Given the description of an element on the screen output the (x, y) to click on. 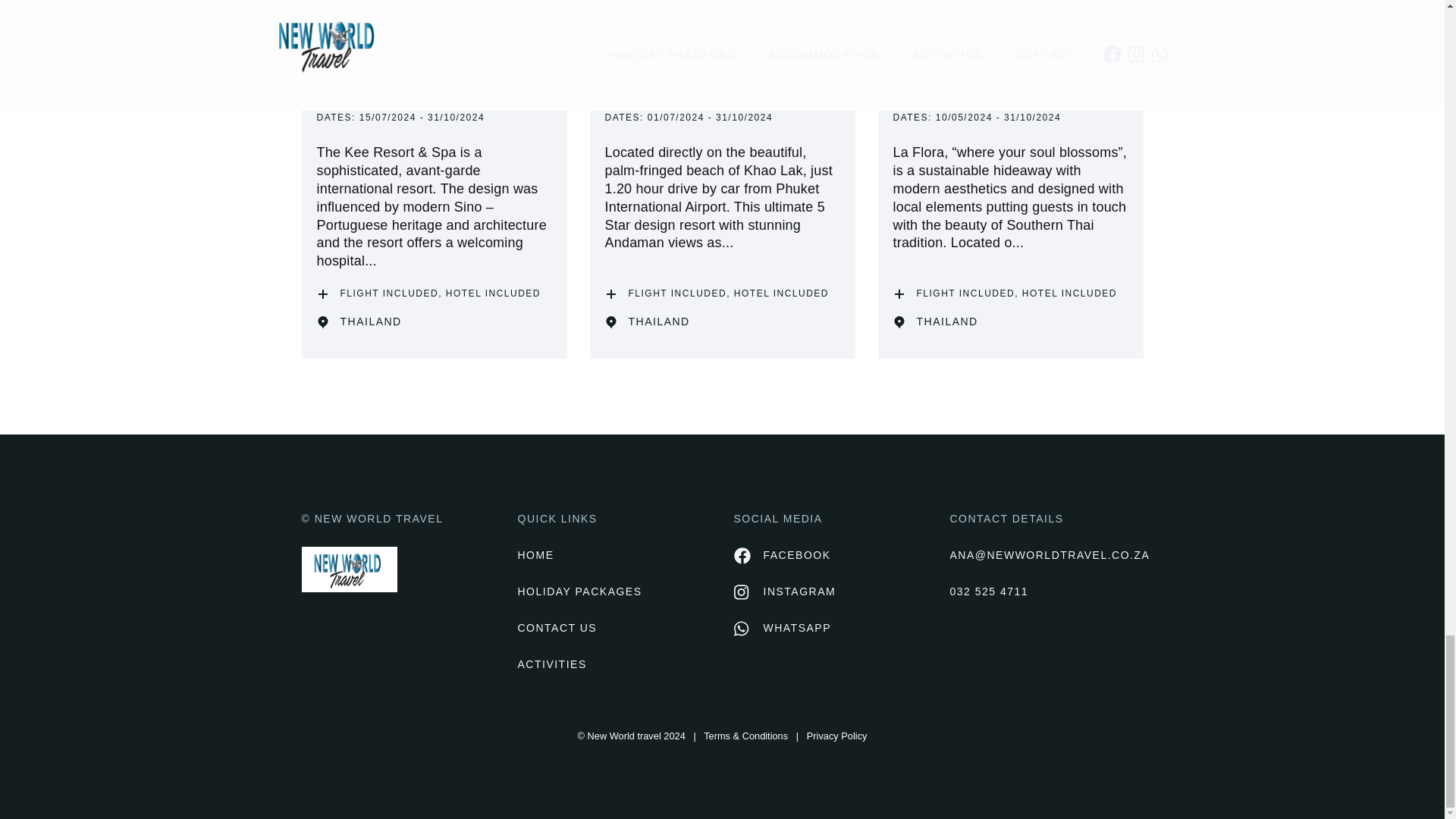
CONTACT US (613, 628)
INSTAGRAM (784, 592)
ACTIVITIES (613, 665)
032 525 4711 (1045, 592)
HOME (613, 556)
Privacy Policy (836, 736)
WHATSAPP (782, 628)
FACEBOOK (782, 556)
HOLIDAY PACKAGES (613, 592)
